Given the description of an element on the screen output the (x, y) to click on. 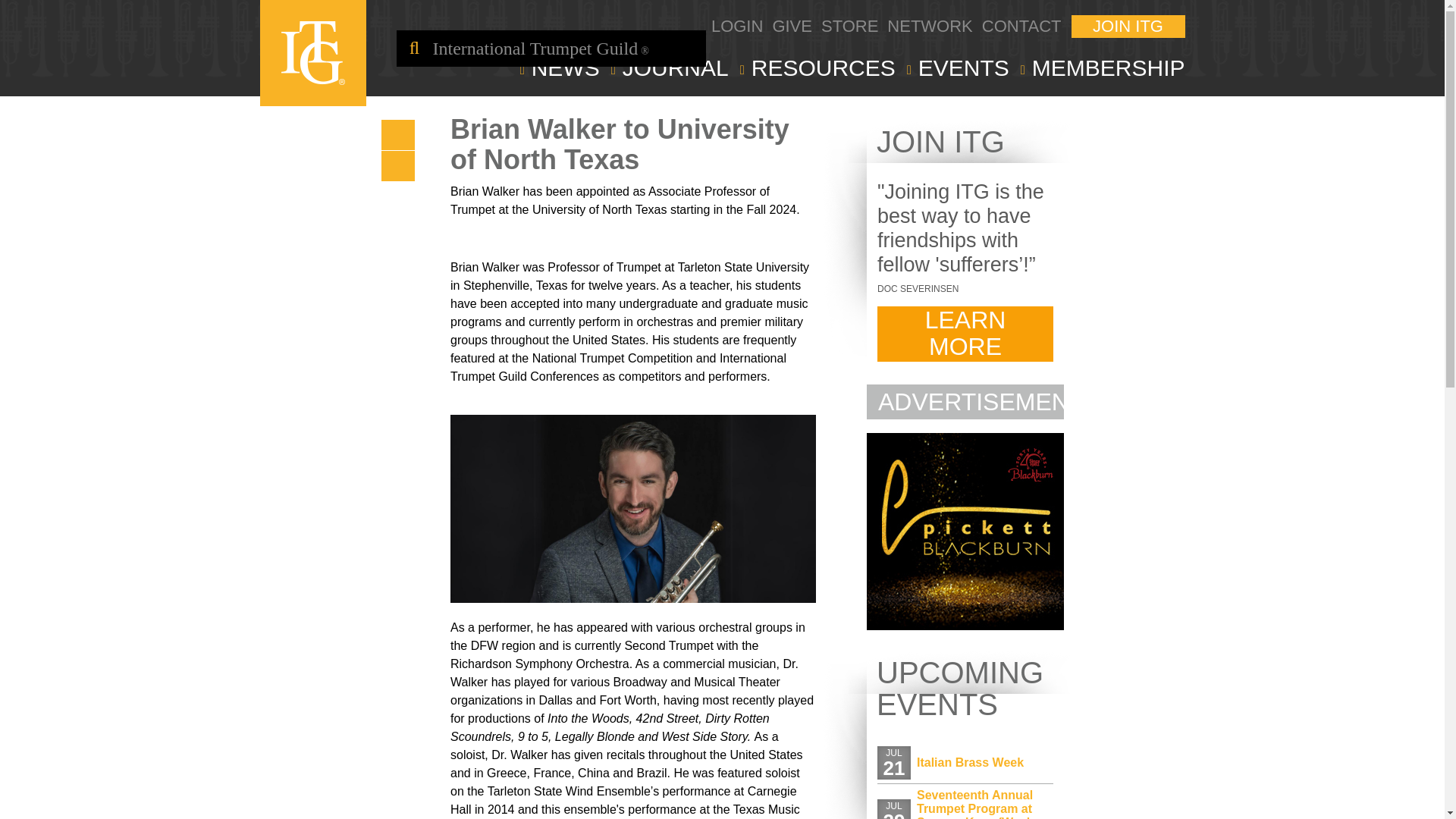
Search (414, 48)
Pickett (965, 625)
Opens a widget where you can find more information (1386, 792)
